Given the description of an element on the screen output the (x, y) to click on. 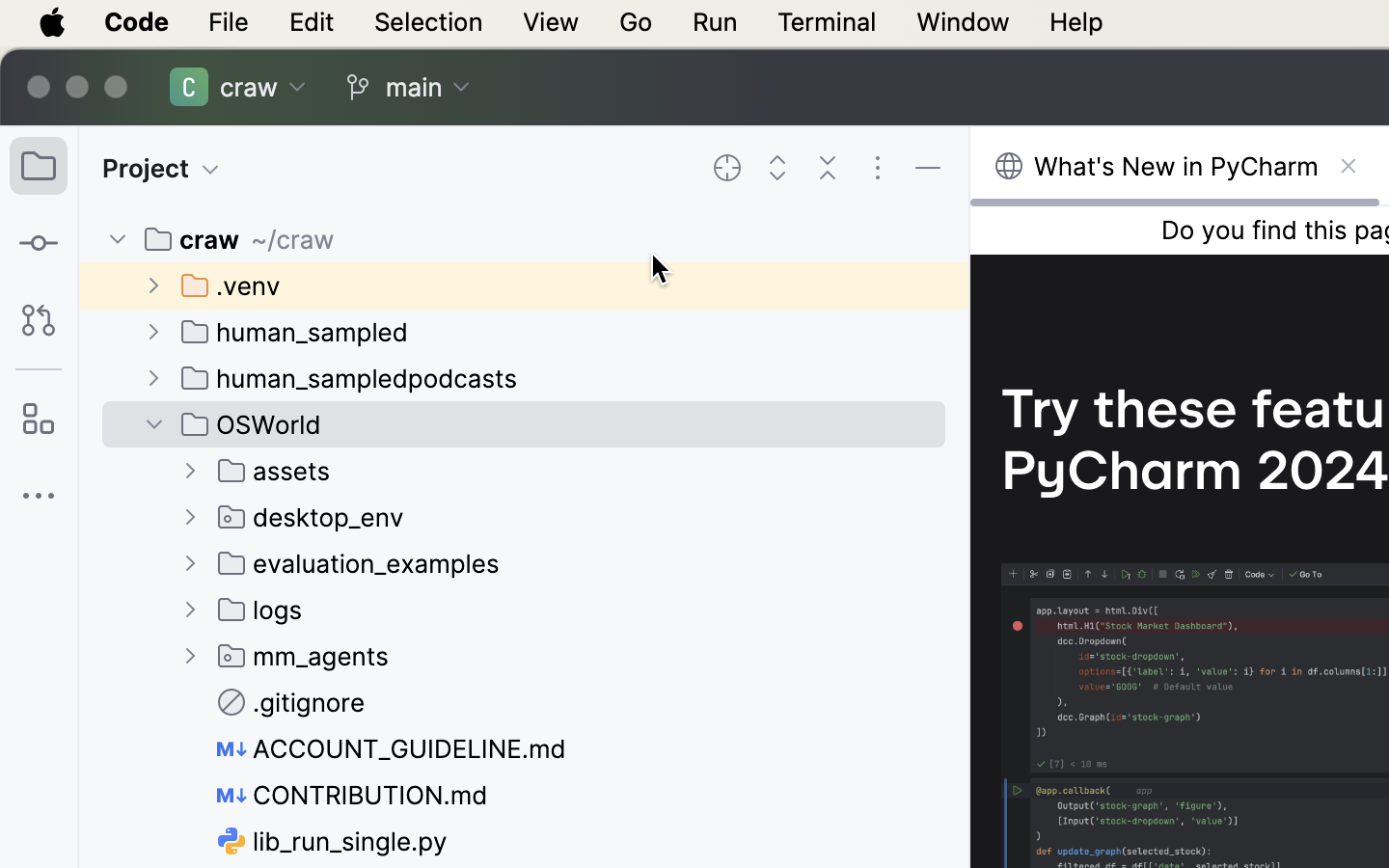
.venv Element type: AXStaticText (231, 285)
